Given the description of an element on the screen output the (x, y) to click on. 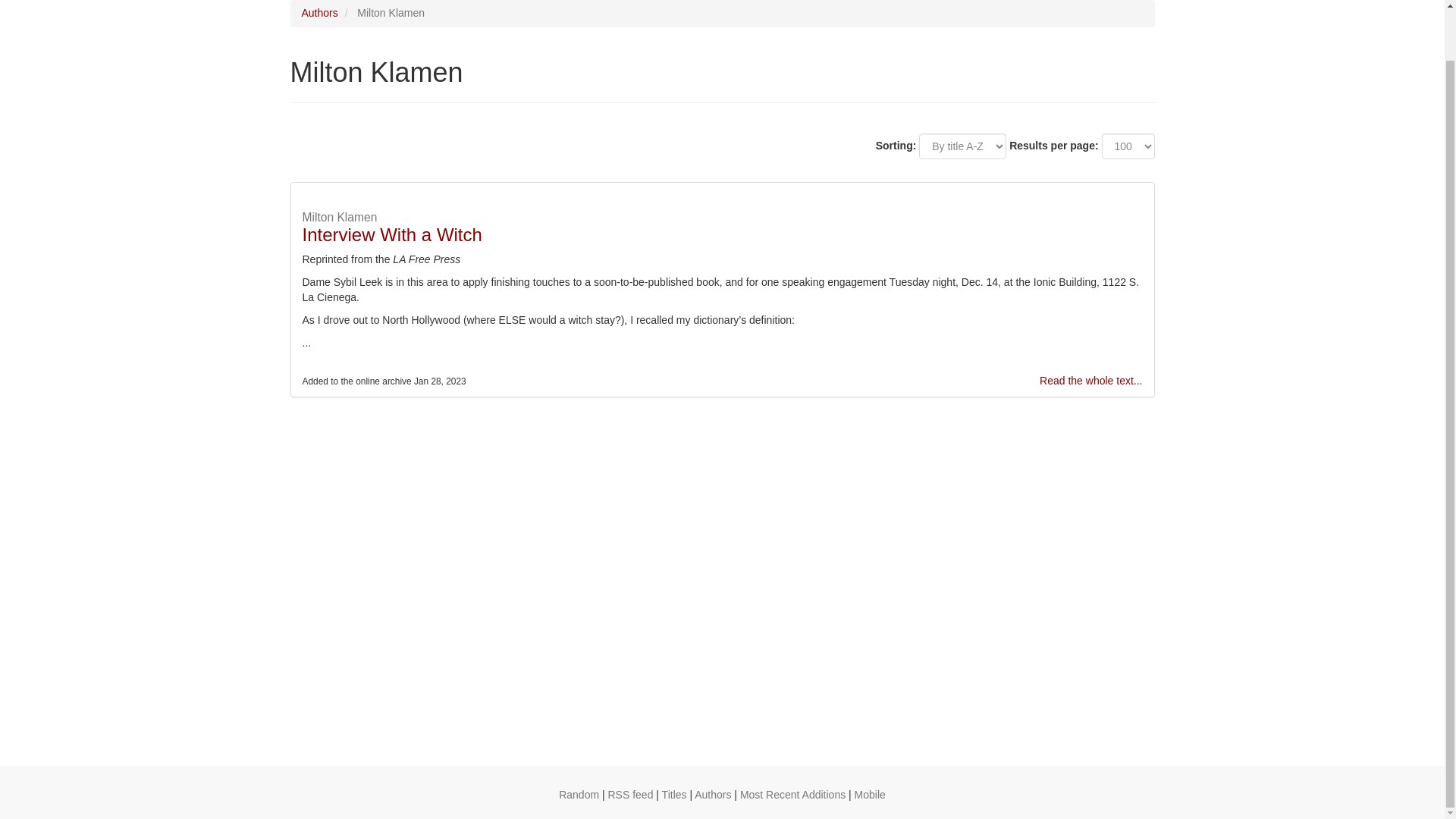
Random (578, 794)
Random (578, 794)
Interview With a Witch (391, 234)
Read the whole text... (1090, 380)
Mobile (869, 794)
Most Recent Additions (792, 794)
Authors (319, 12)
Authors (712, 794)
Titles (674, 794)
RSS feed (630, 794)
Authors (712, 794)
texts sorted by title (674, 794)
